Given the description of an element on the screen output the (x, y) to click on. 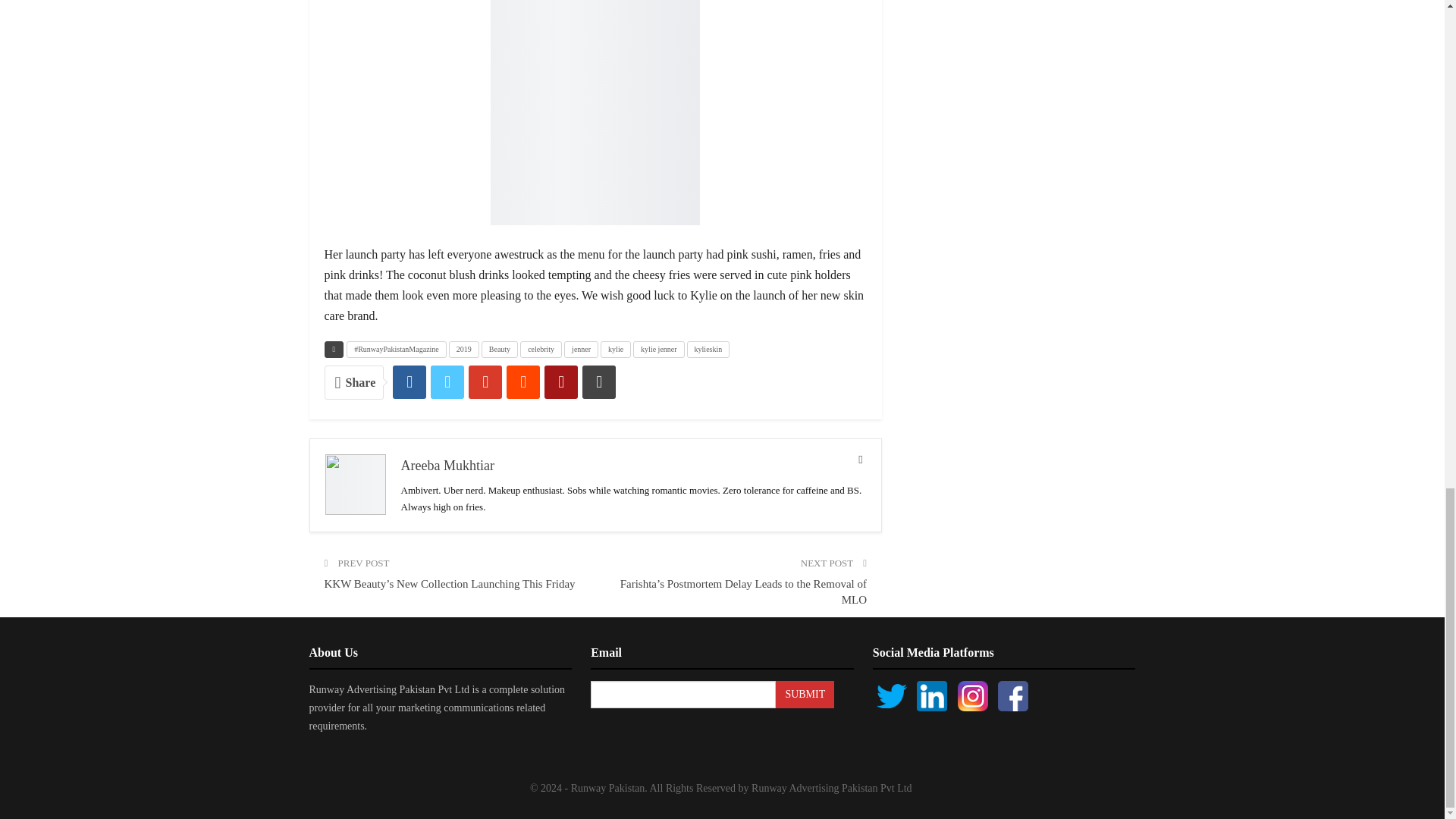
Submit (805, 694)
